Given the description of an element on the screen output the (x, y) to click on. 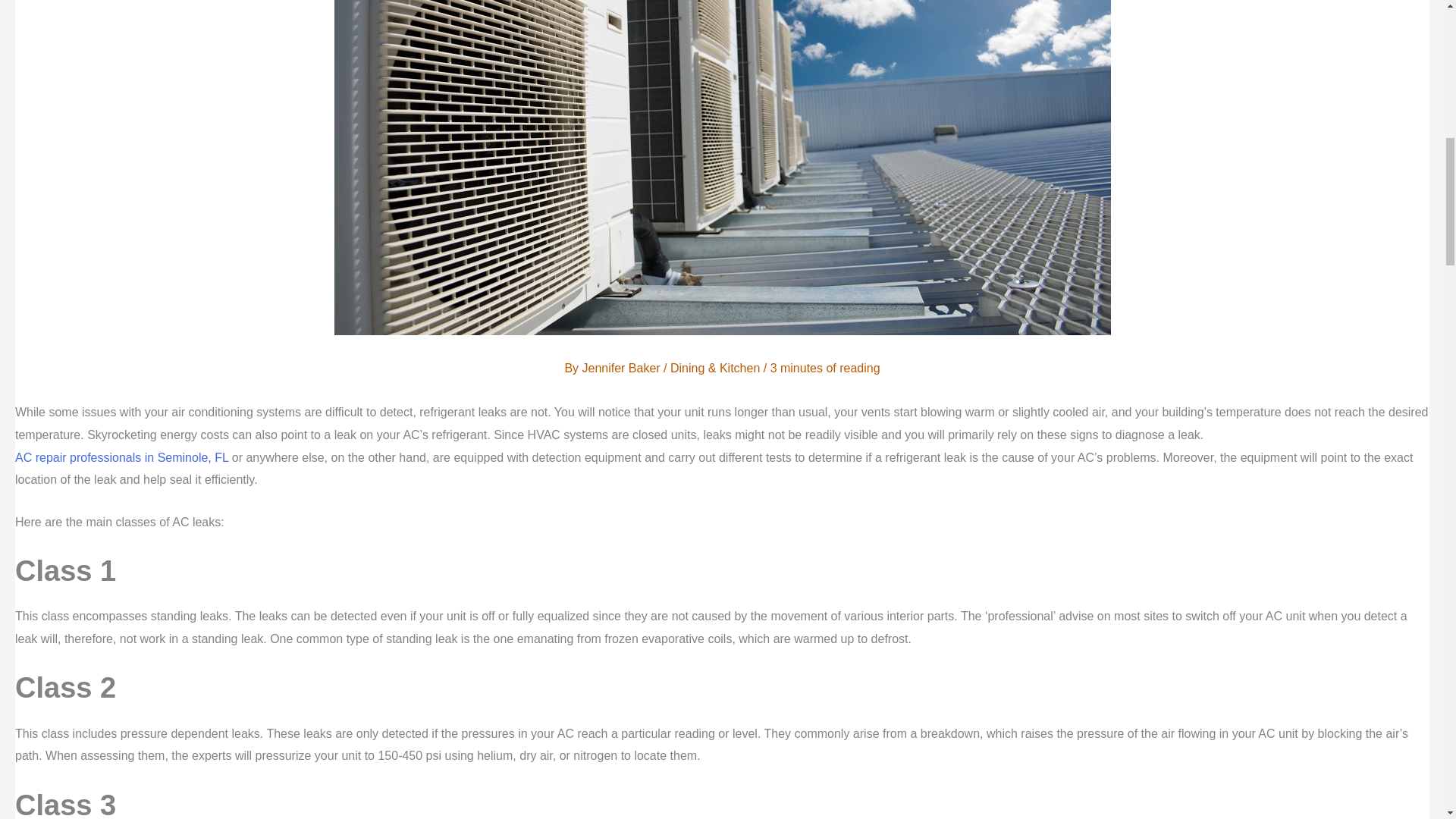
Total Air Inc (121, 457)
AC repair professionals in Seminole, FL (121, 457)
View all posts by Jennifer Baker (622, 367)
Jennifer Baker (622, 367)
